Given the description of an element on the screen output the (x, y) to click on. 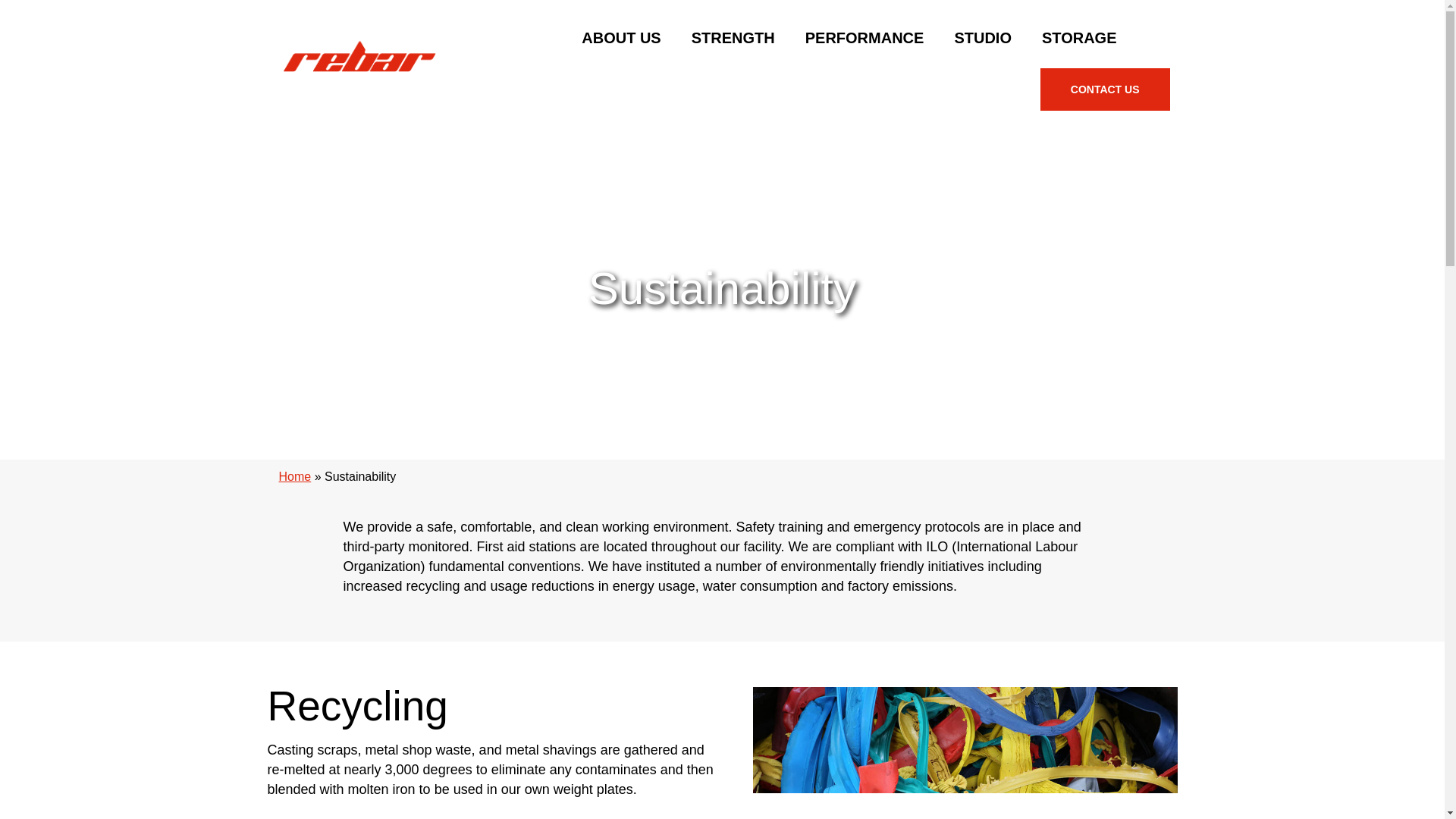
STORAGE (1079, 37)
PERFORMANCE (864, 37)
ABOUT US (620, 37)
STRENGTH (732, 37)
STUDIO (982, 37)
